Given the description of an element on the screen output the (x, y) to click on. 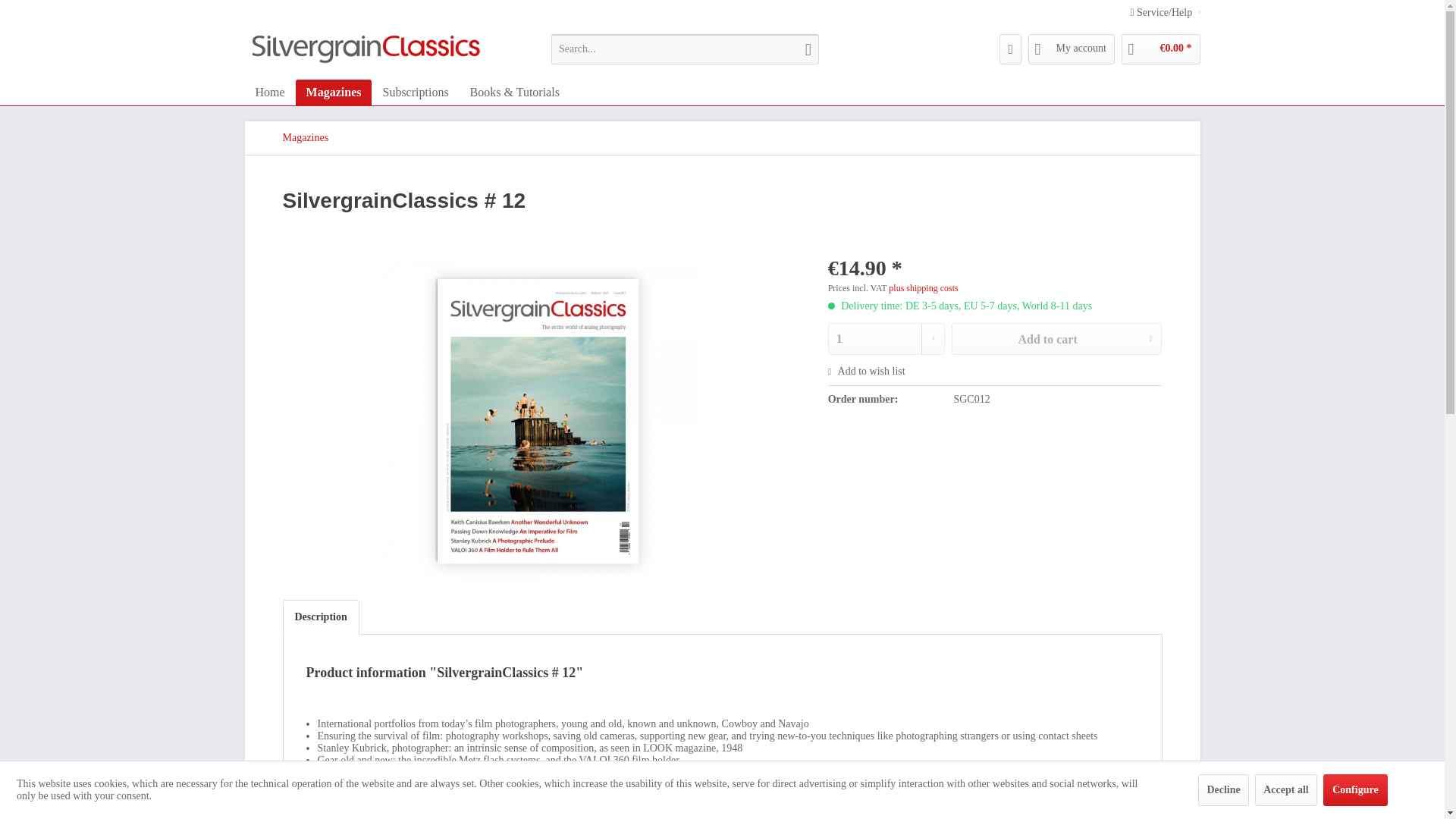
SilvergrainClassics Shop - Switch to homepage (365, 53)
Add to cart (1056, 338)
plus shipping costs (923, 287)
Shopping cart (1160, 49)
Home (269, 92)
Add to wish list (866, 371)
Magazines (305, 137)
Subscriptions (414, 92)
Subscriptions (414, 92)
Home (269, 92)
